Given the description of an element on the screen output the (x, y) to click on. 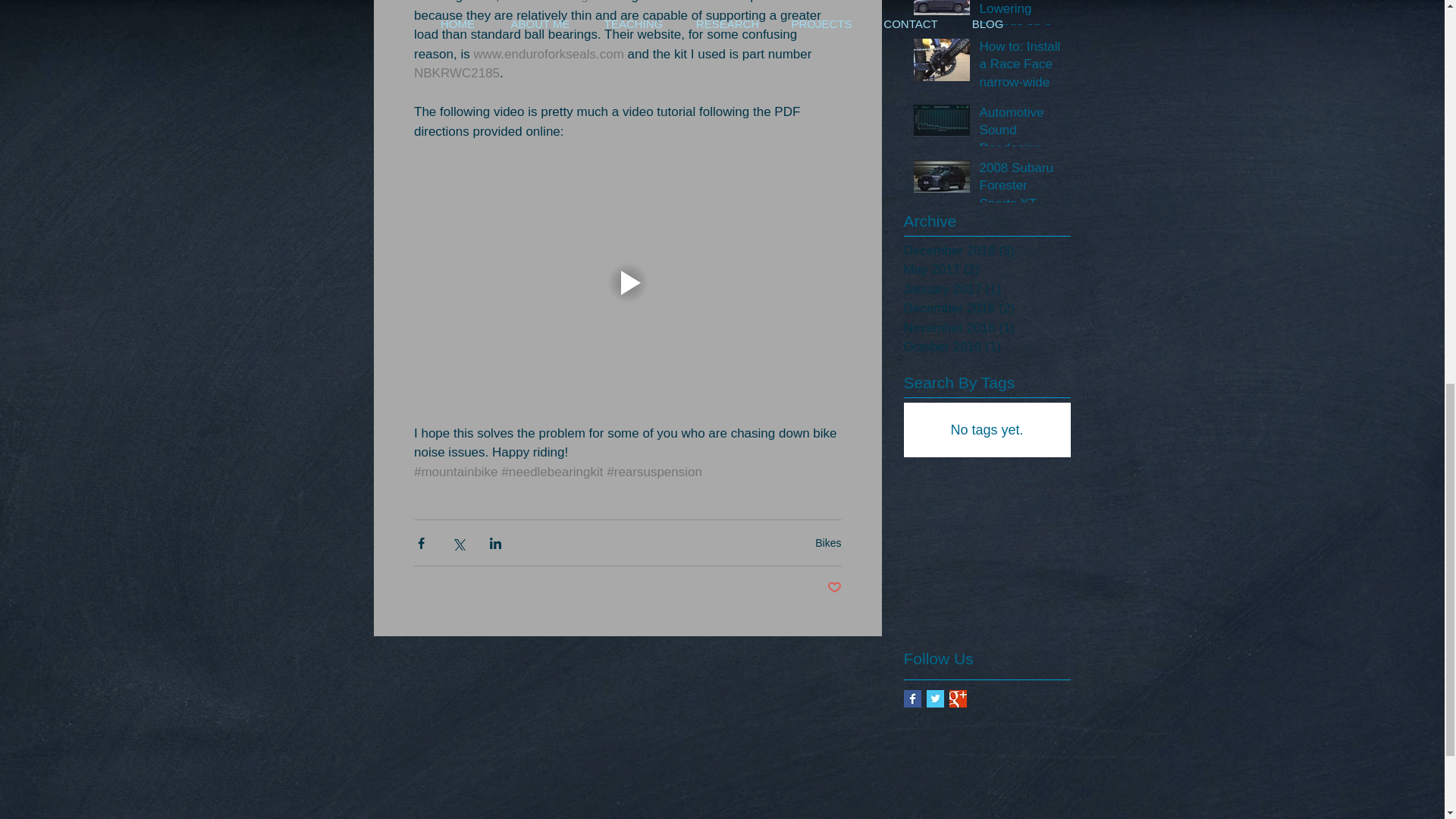
NBKRWC2185 (456, 73)
2008 Subaru Forester Sports XT 5MT (1020, 197)
www.enduroforkseals.com (548, 53)
Bikes (828, 542)
How to: Install a Race Face narrow-wide chainring (1020, 76)
needle bearings (548, 1)
Post not marked as liked (834, 587)
